Given the description of an element on the screen output the (x, y) to click on. 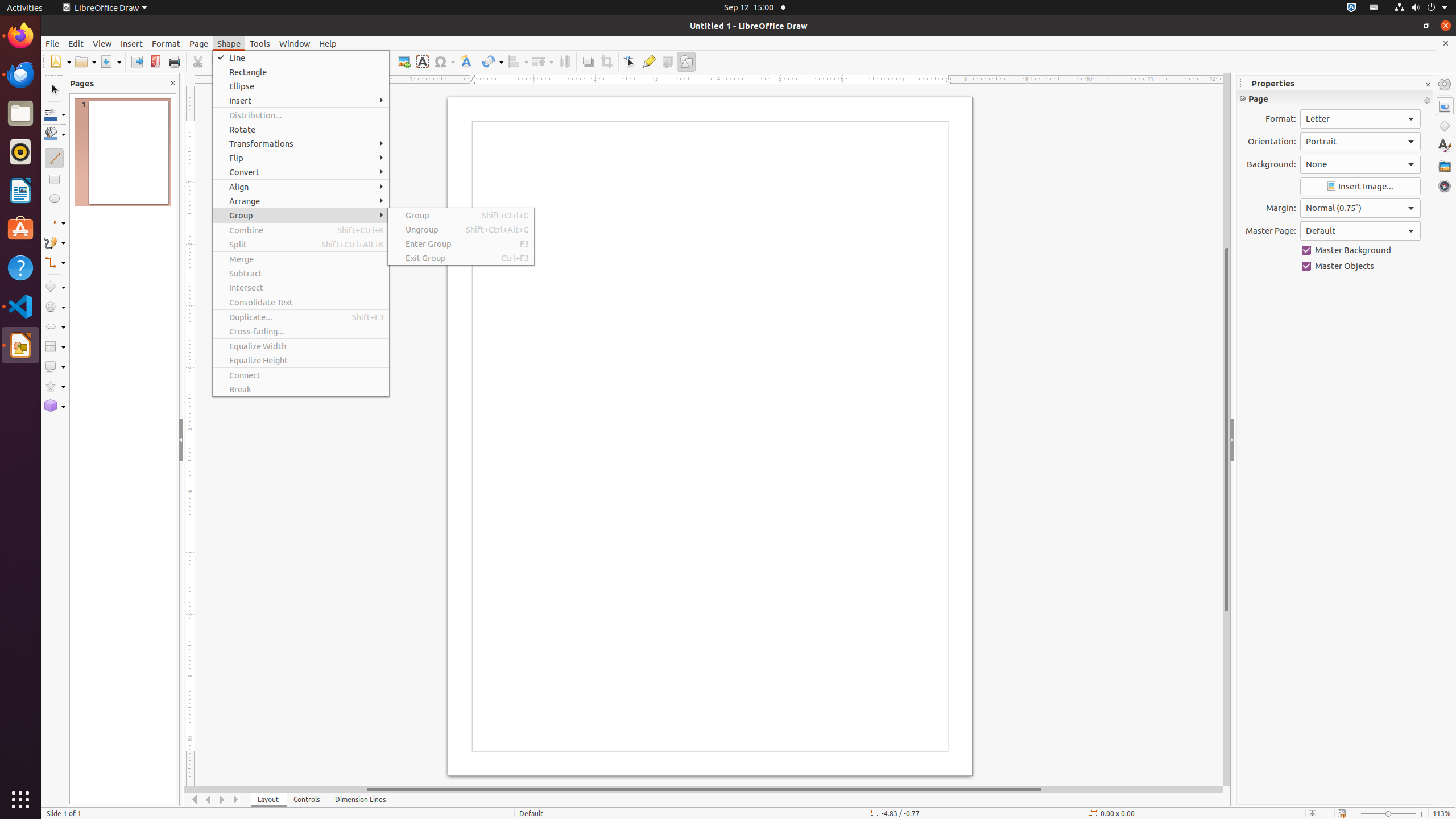
Window Element type: menu (294, 43)
Rhythmbox Element type: push-button (20, 151)
Save Element type: push-button (109, 61)
Insert Element type: menu (300, 100)
More Options Element type: push-button (1426, 100)
